Given the description of an element on the screen output the (x, y) to click on. 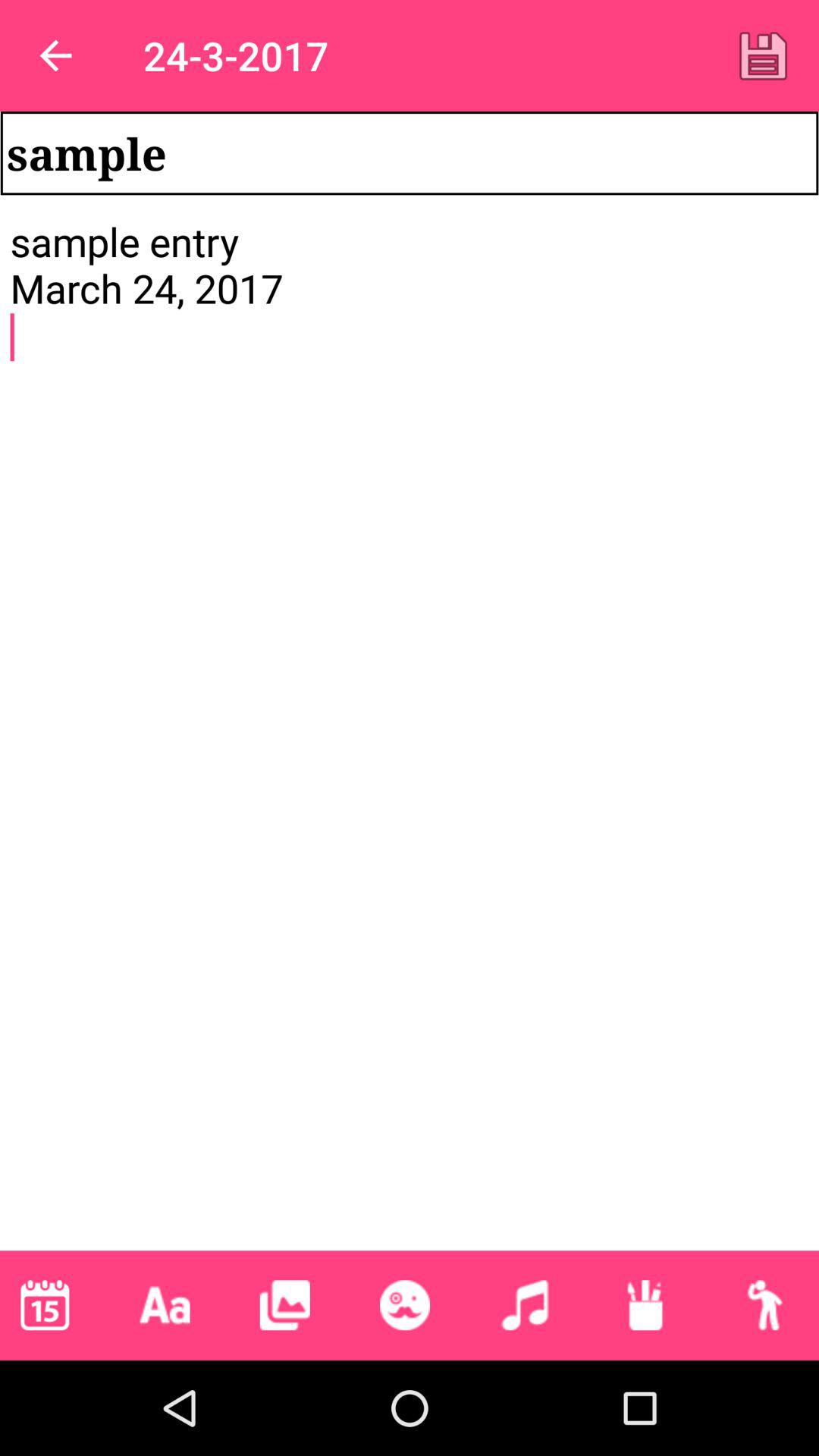
tap the icon below sample entry march (644, 1305)
